Given the description of an element on the screen output the (x, y) to click on. 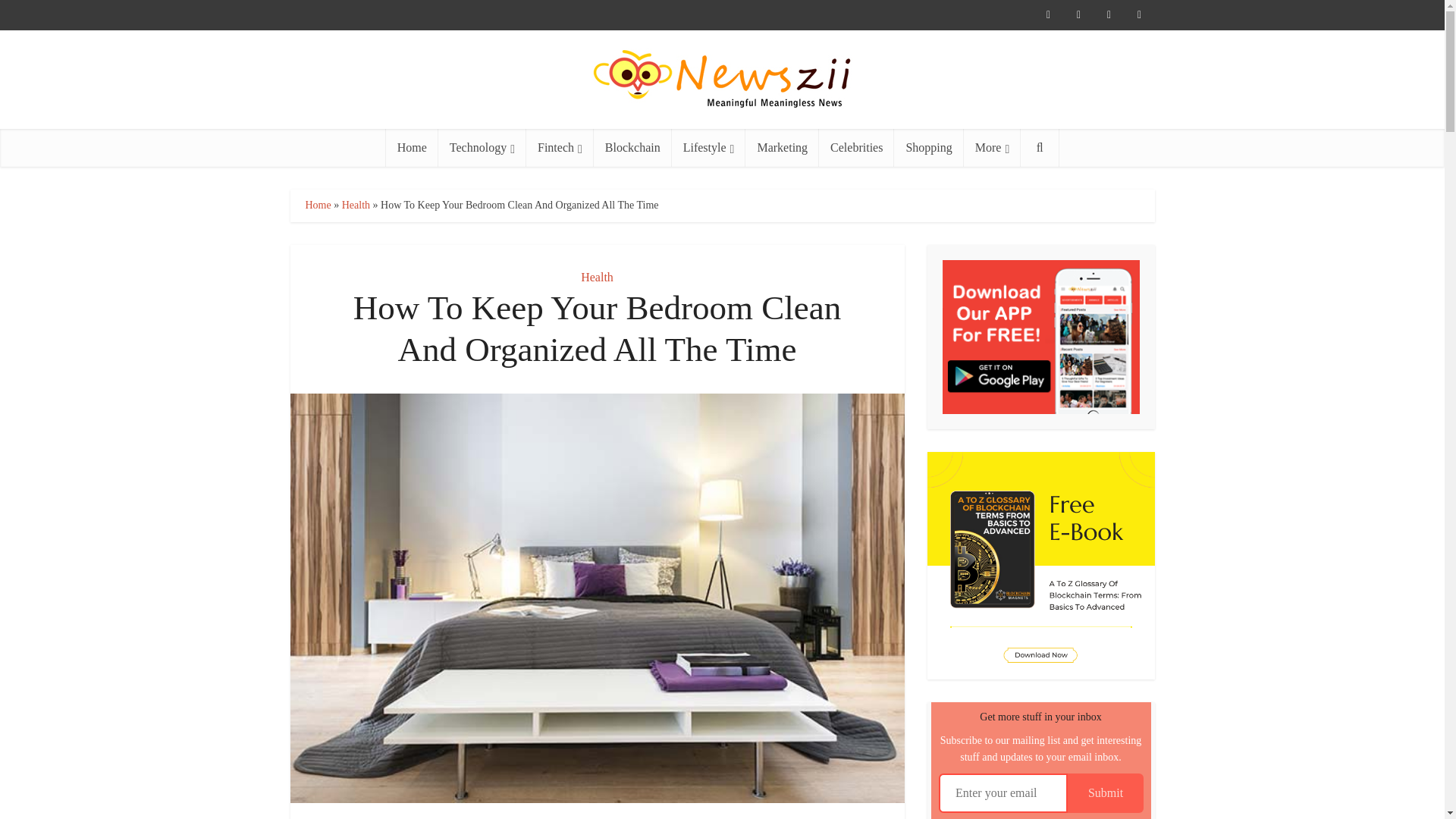
Blockchain (632, 147)
Home (411, 147)
Technology (481, 147)
Fintech (559, 147)
Lifestyle (708, 147)
